Given the description of an element on the screen output the (x, y) to click on. 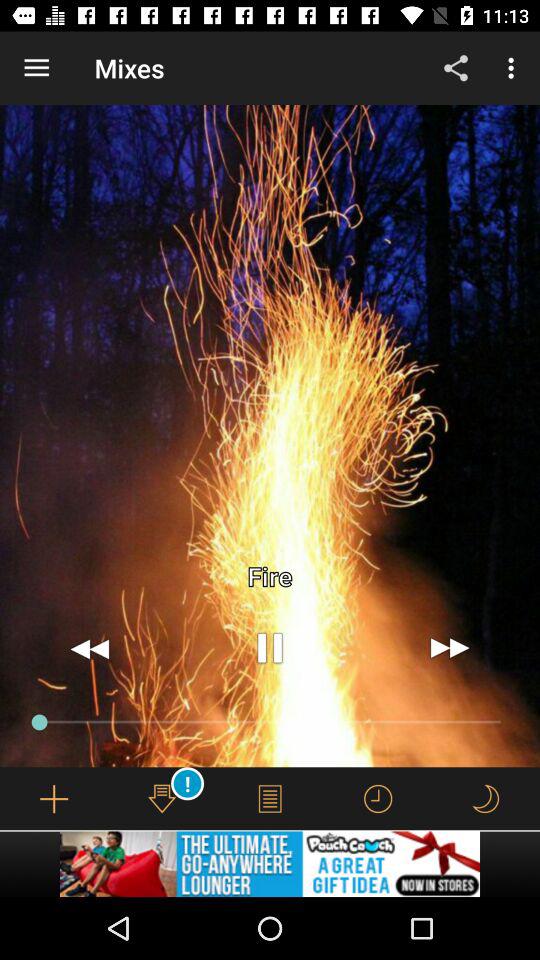
go back (90, 648)
